Given the description of an element on the screen output the (x, y) to click on. 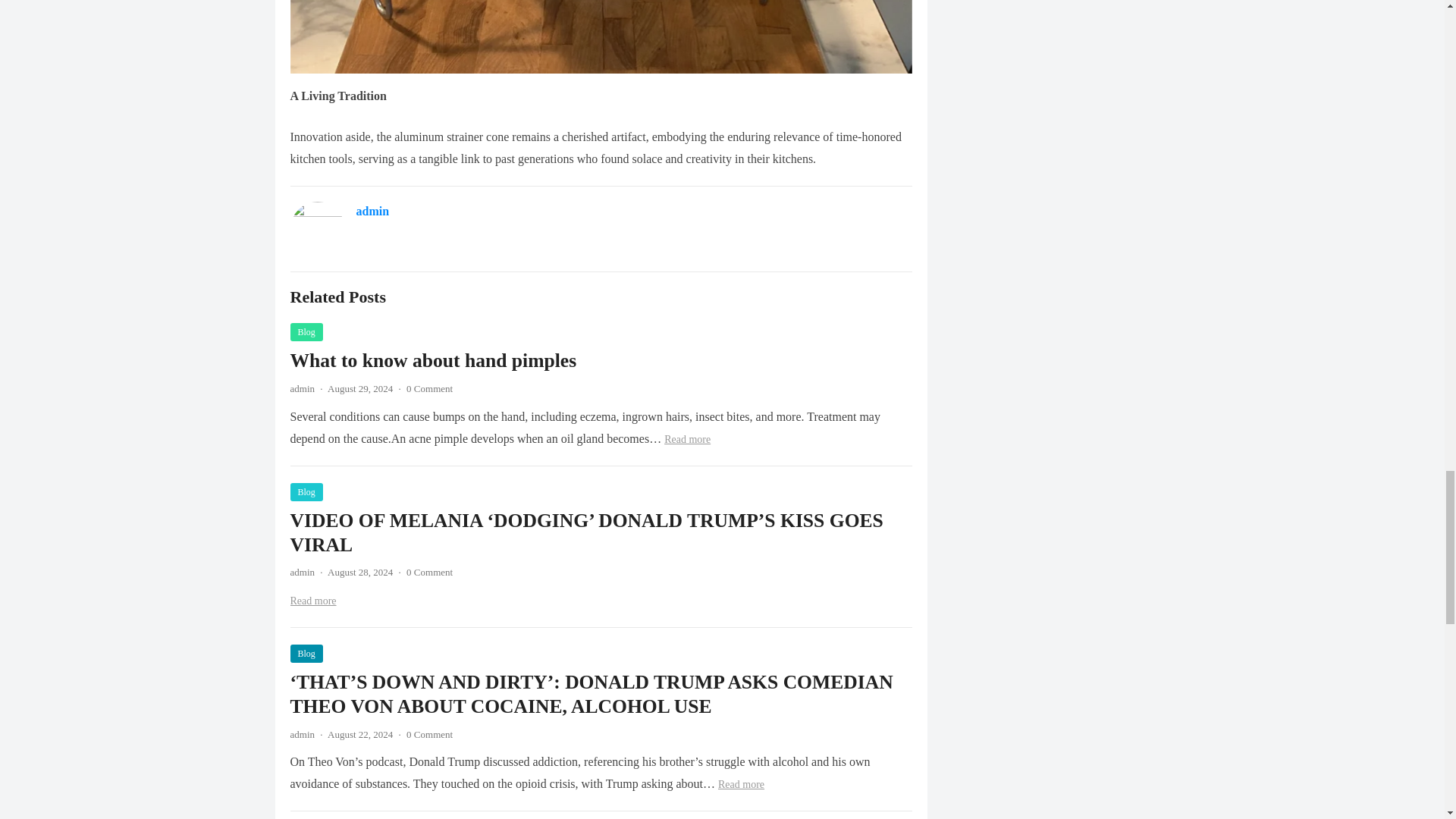
0 Comment (429, 734)
Read more (740, 784)
admin (301, 734)
Posts by admin (301, 388)
Posts by admin (301, 734)
Blog (305, 492)
0 Comment (429, 388)
Blog (305, 653)
Read more (312, 600)
0 Comment (429, 572)
